Given the description of an element on the screen output the (x, y) to click on. 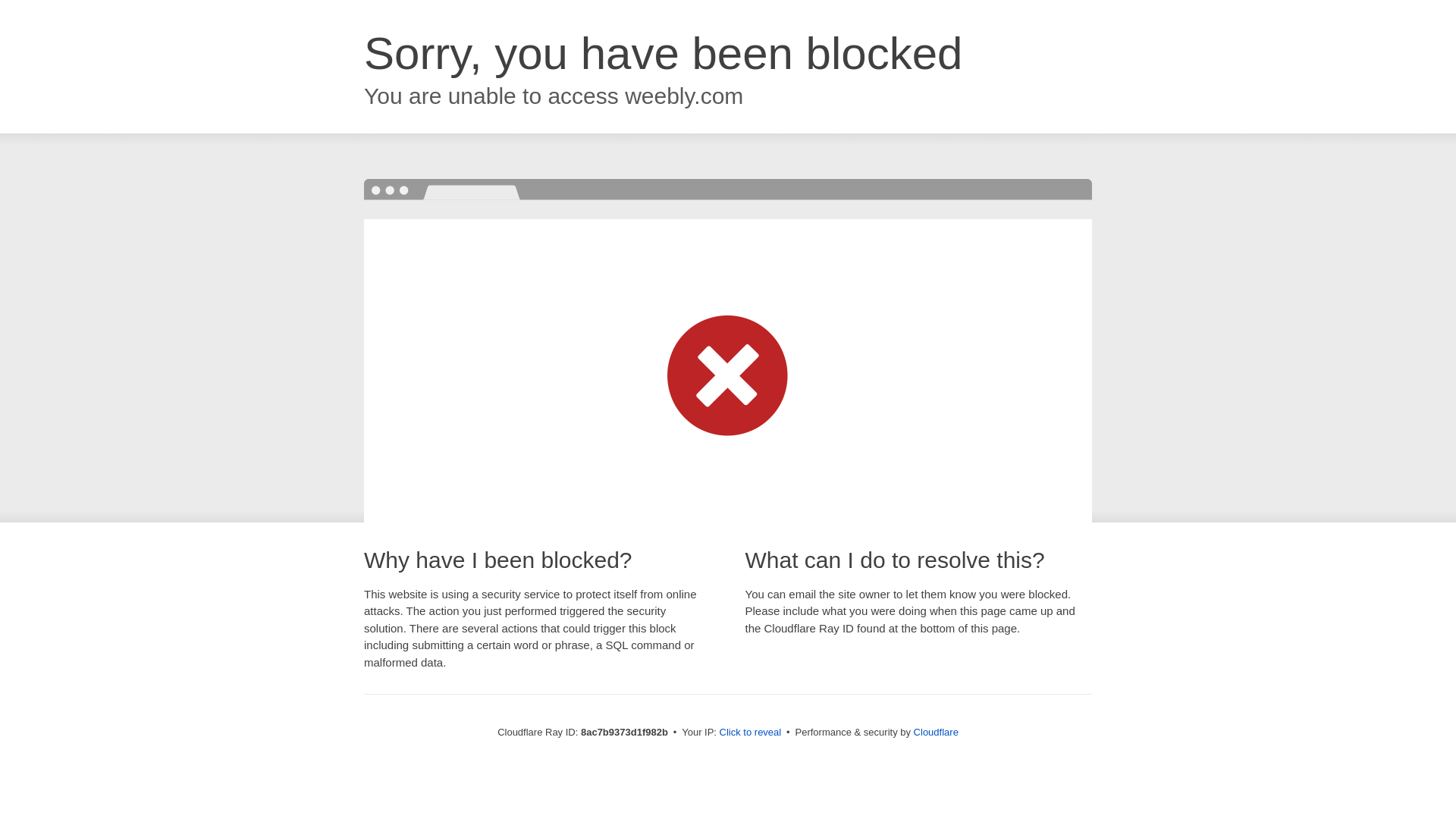
Click to reveal (750, 732)
Cloudflare (936, 731)
